Given the description of an element on the screen output the (x, y) to click on. 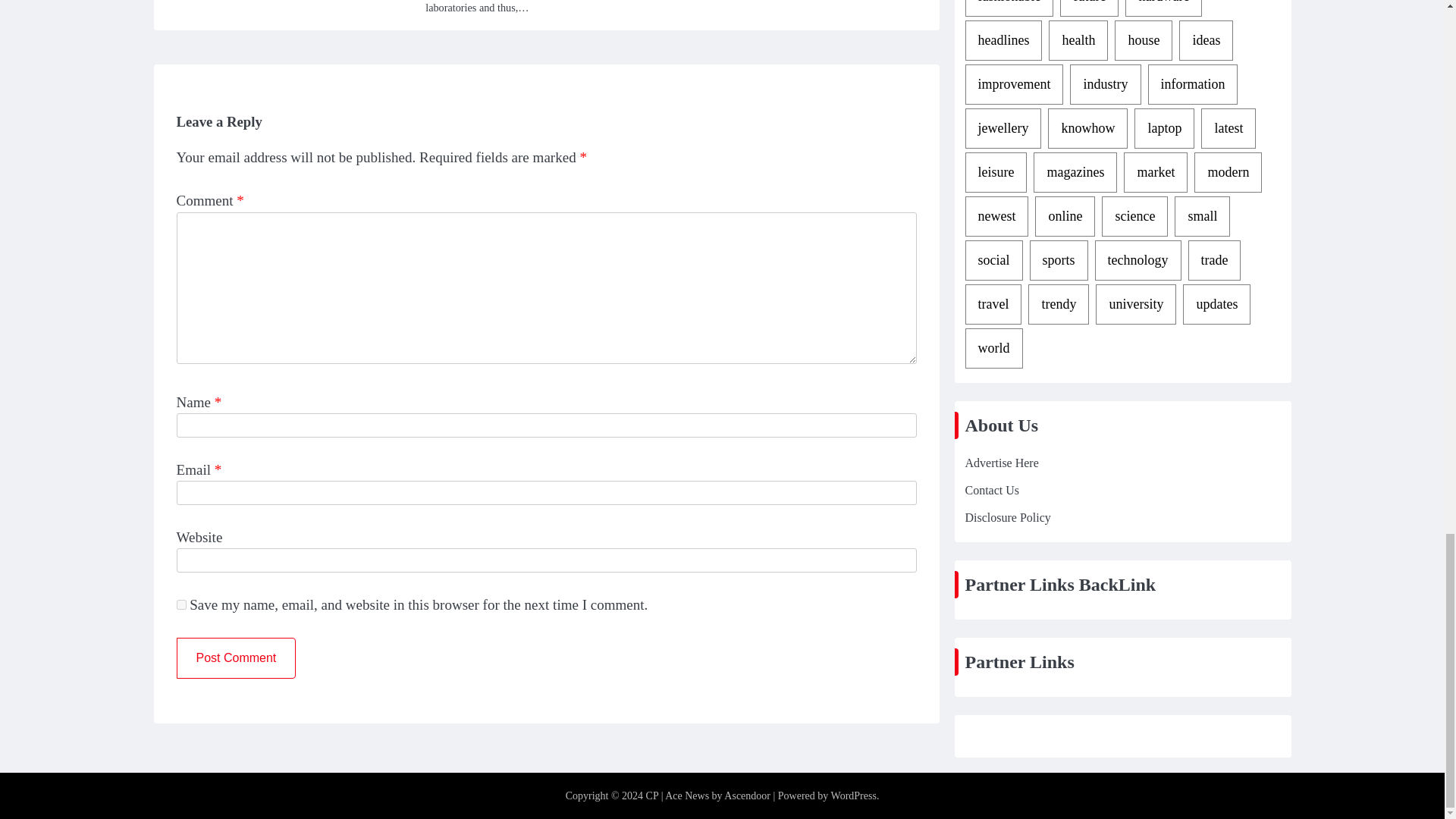
yes (181, 604)
Post Comment (235, 658)
Post Comment (235, 658)
